Given the description of an element on the screen output the (x, y) to click on. 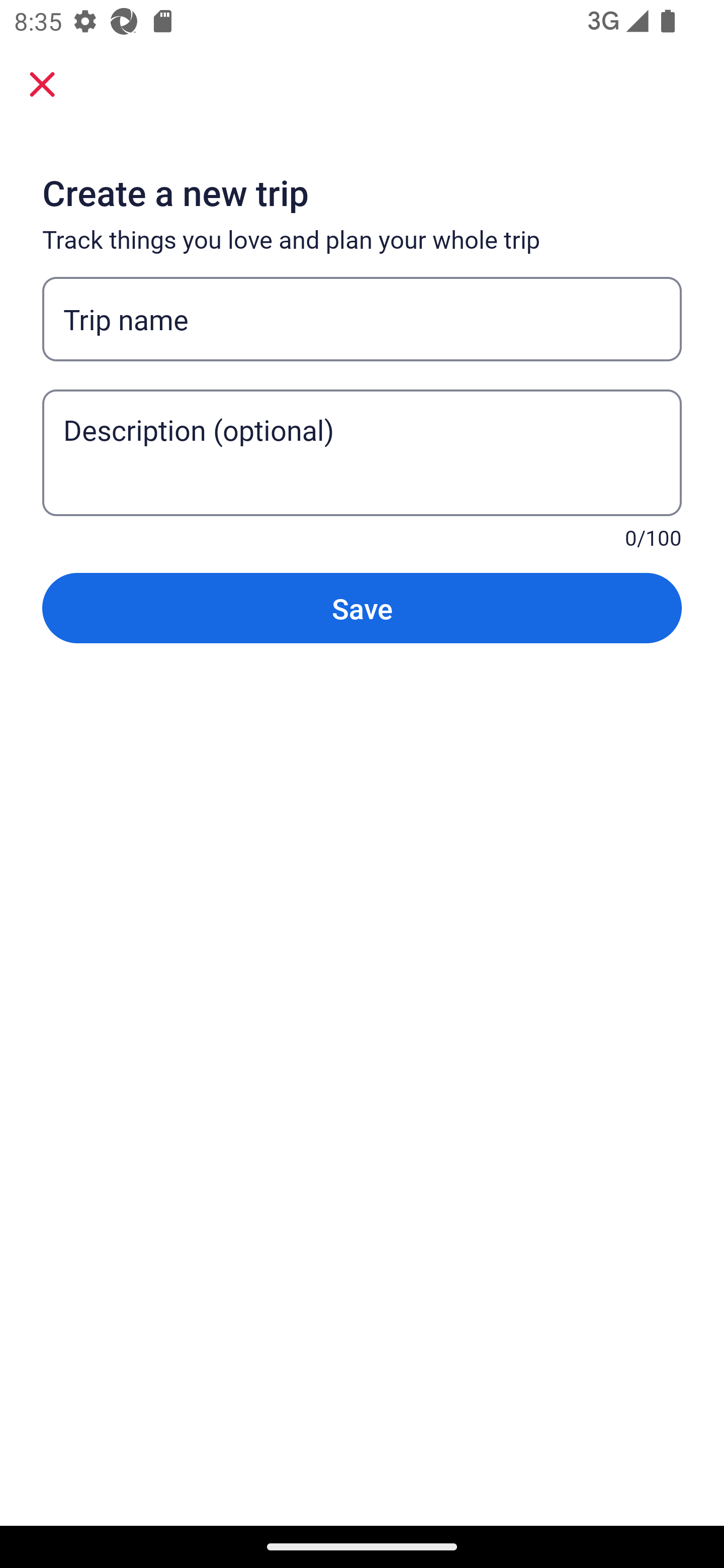
Close (41, 83)
Trip name (361, 318)
Save Button Save (361, 607)
